Given the description of an element on the screen output the (x, y) to click on. 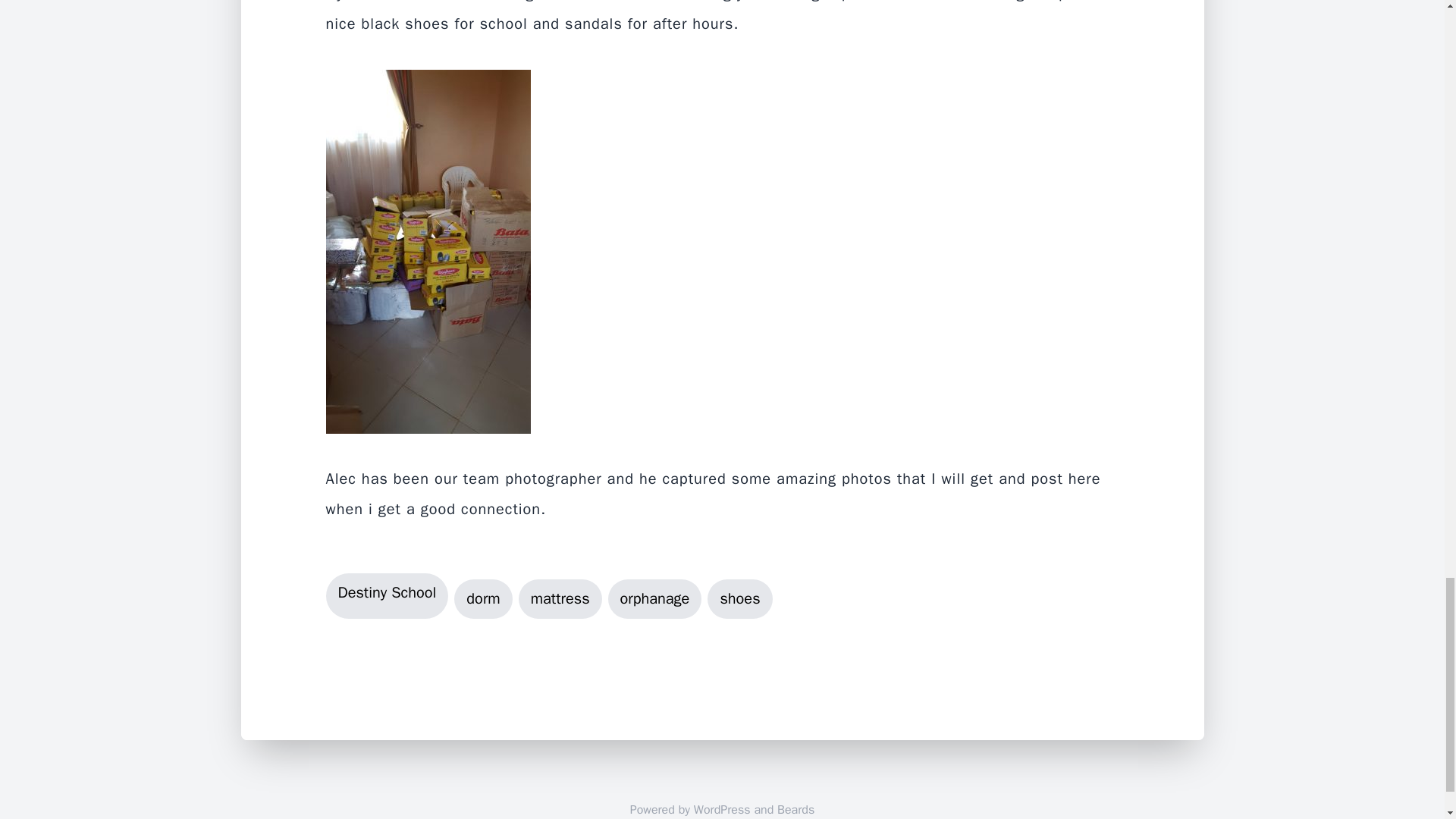
orphanage (654, 598)
Destiny School (387, 595)
dorm (483, 598)
Destiny School Tag (387, 595)
shoes (739, 598)
dorm Tag (483, 598)
orphanage Tag (654, 598)
shoes Tag (739, 598)
mattress Tag (560, 598)
mattress (560, 598)
